Given the description of an element on the screen output the (x, y) to click on. 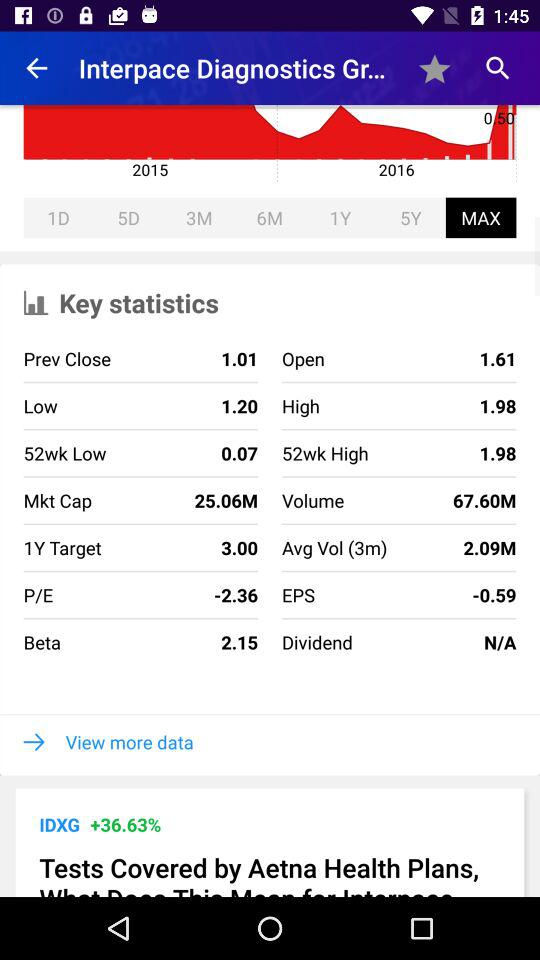
select icon next to the 1y target (179, 547)
